Given the description of an element on the screen output the (x, y) to click on. 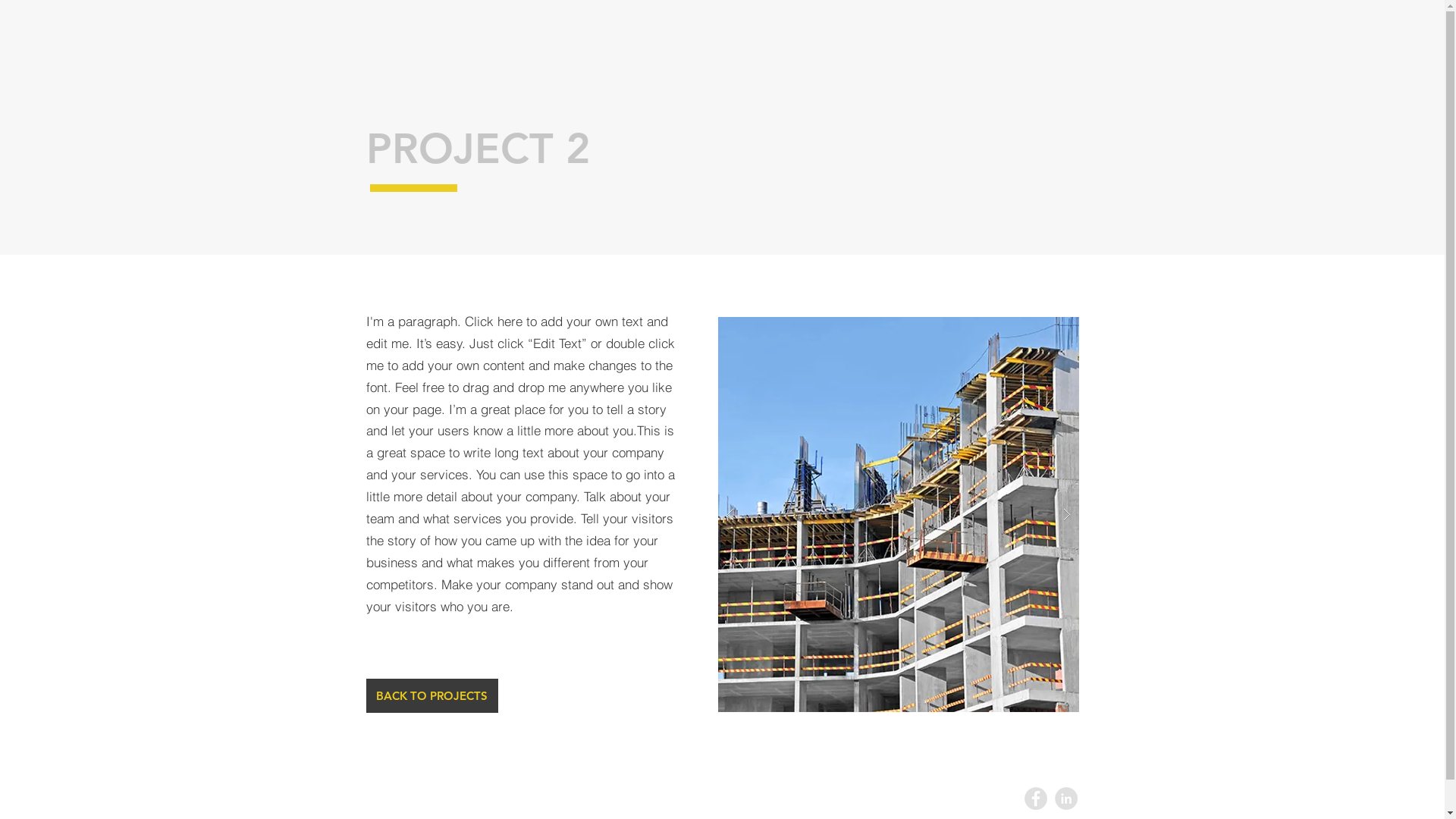
BACK TO PROJECTS Element type: text (431, 695)
